Given the description of an element on the screen output the (x, y) to click on. 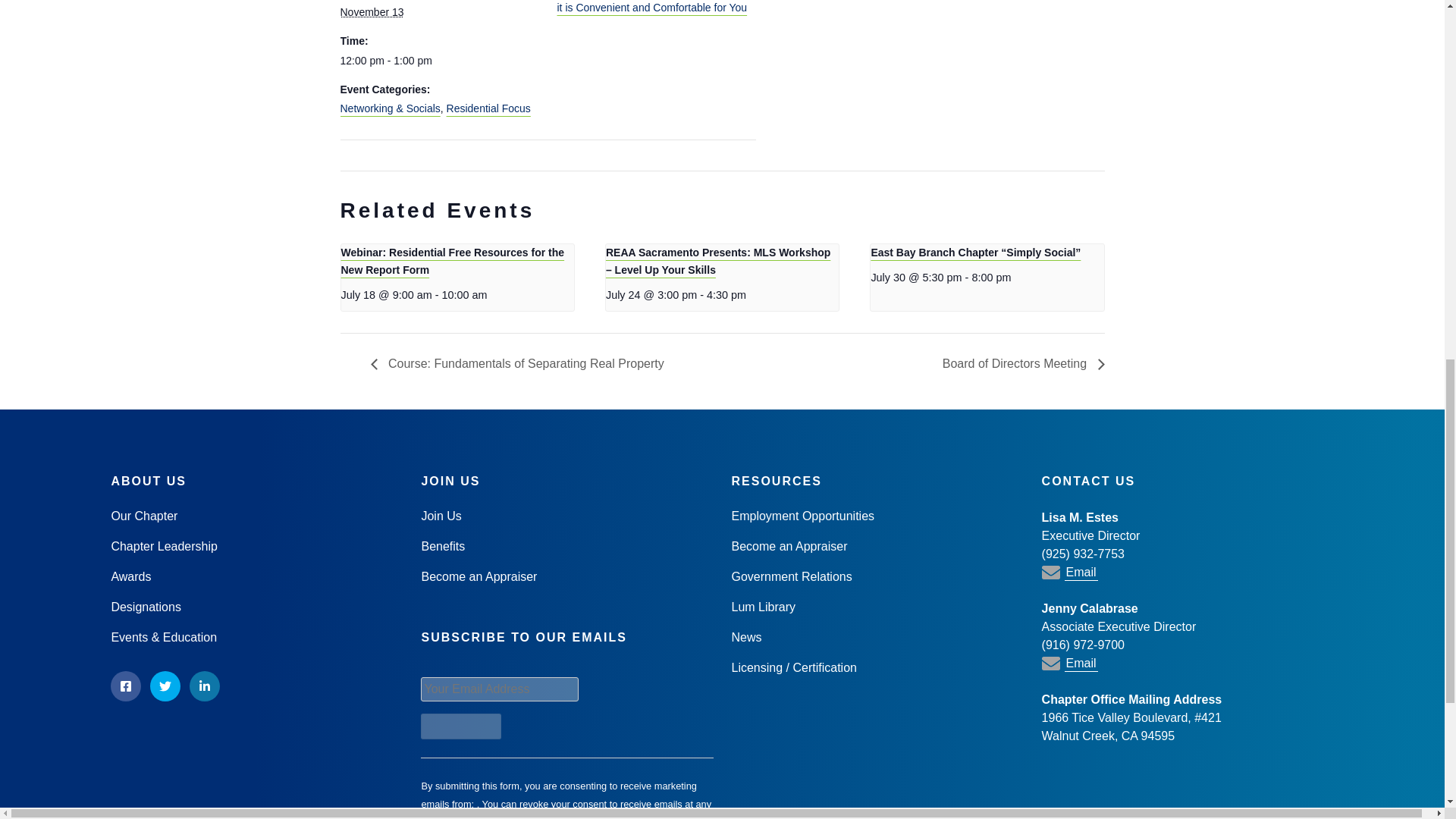
2024-11-13 (438, 60)
Norcal-AI Twitter (164, 685)
Norcal-AI Facebook (125, 685)
Subscribe (460, 726)
Norcal-AI LinkedIn (204, 685)
2024-11-13 (371, 11)
